Given the description of an element on the screen output the (x, y) to click on. 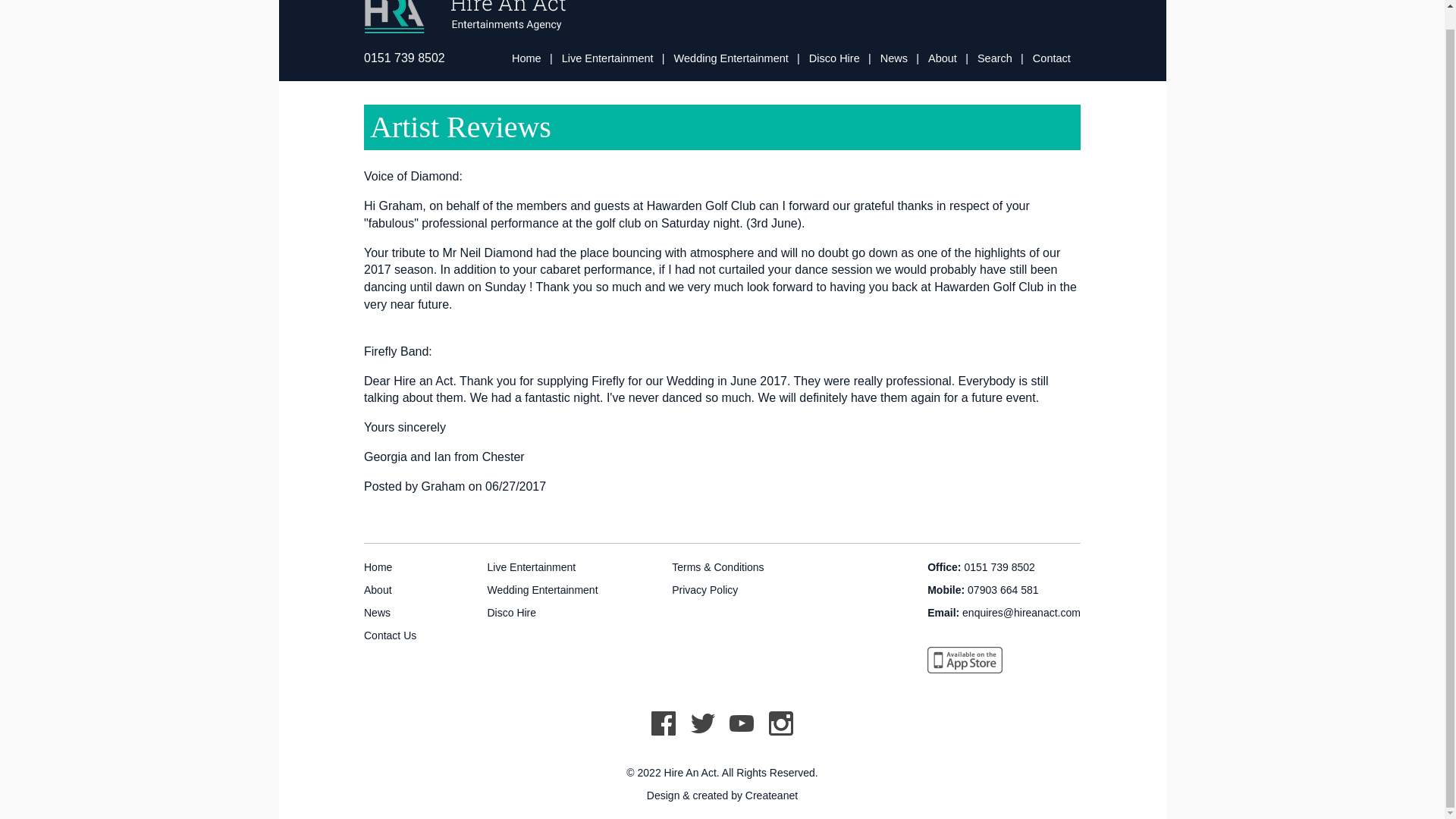
News (893, 58)
Live Entertainment (607, 58)
Live Entertainment (530, 567)
Privacy Policy (704, 589)
Contact Us (390, 635)
About (377, 589)
Search (993, 58)
Home (526, 58)
News (893, 58)
News (377, 612)
